Given the description of an element on the screen output the (x, y) to click on. 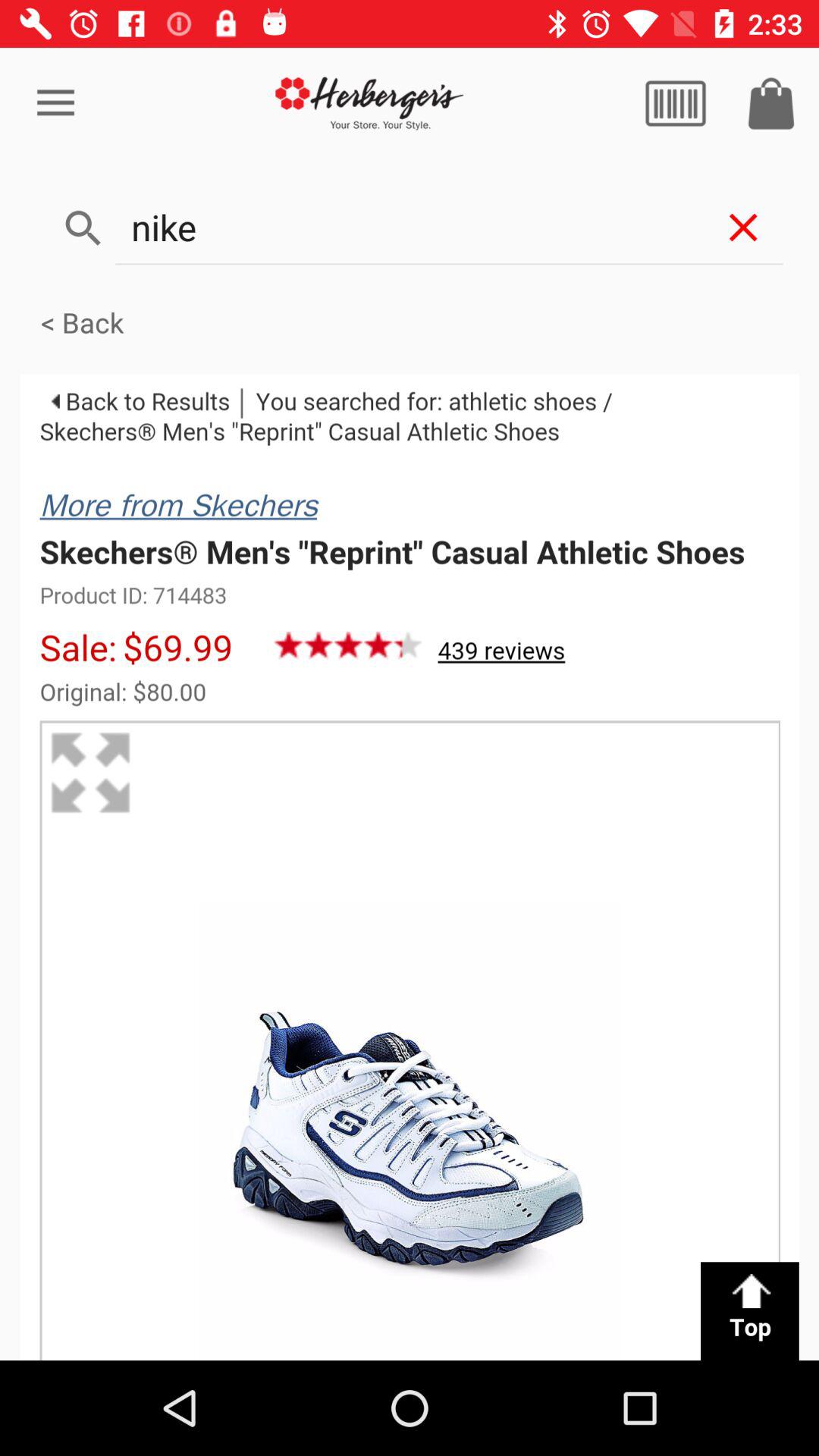
go to icon (771, 103)
